Given the description of an element on the screen output the (x, y) to click on. 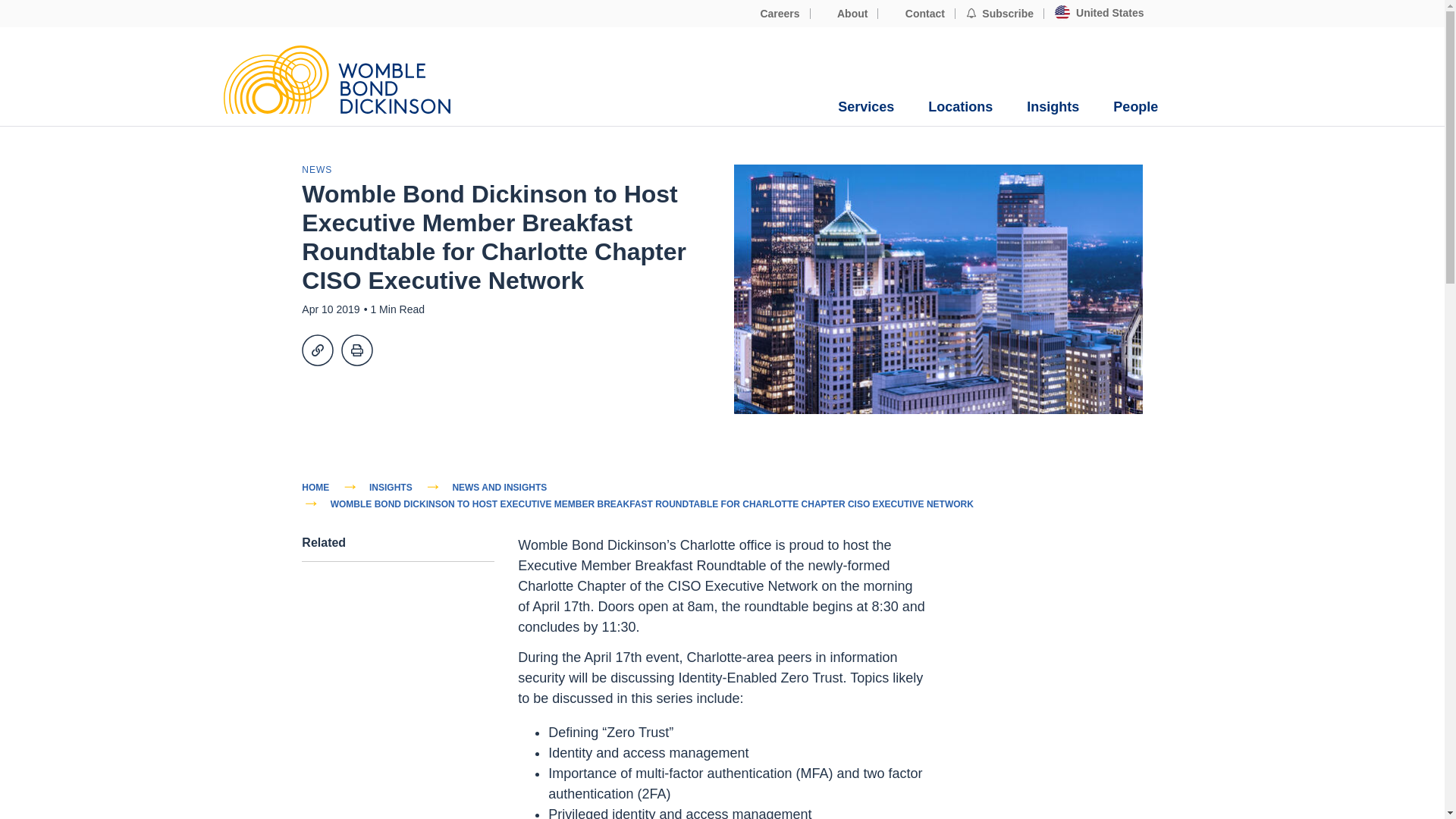
United States (1098, 13)
Services (865, 107)
About (844, 13)
Contact (916, 13)
Locations (960, 107)
Careers (771, 13)
